Given the description of an element on the screen output the (x, y) to click on. 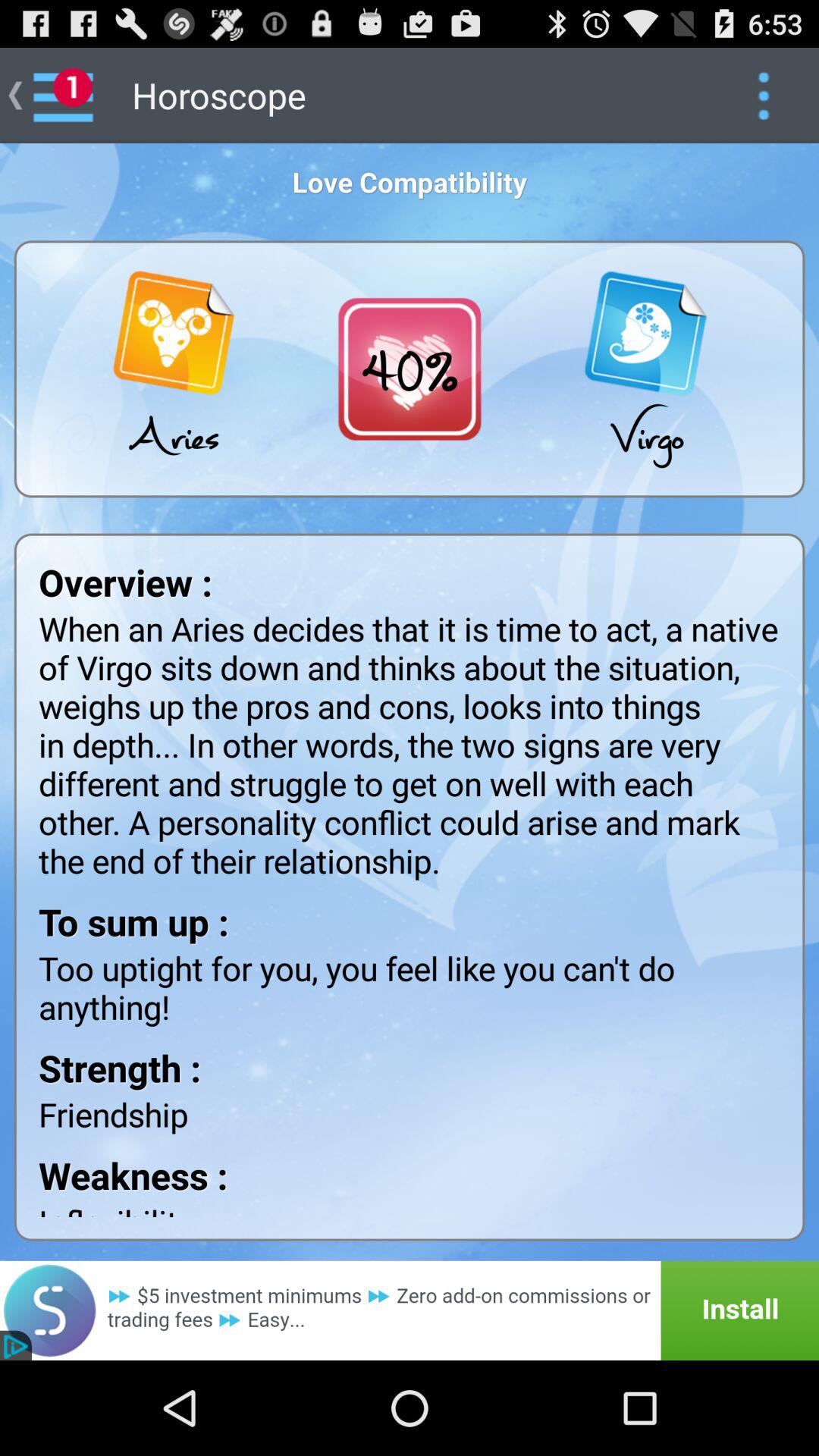
install app (409, 1310)
